Given the description of an element on the screen output the (x, y) to click on. 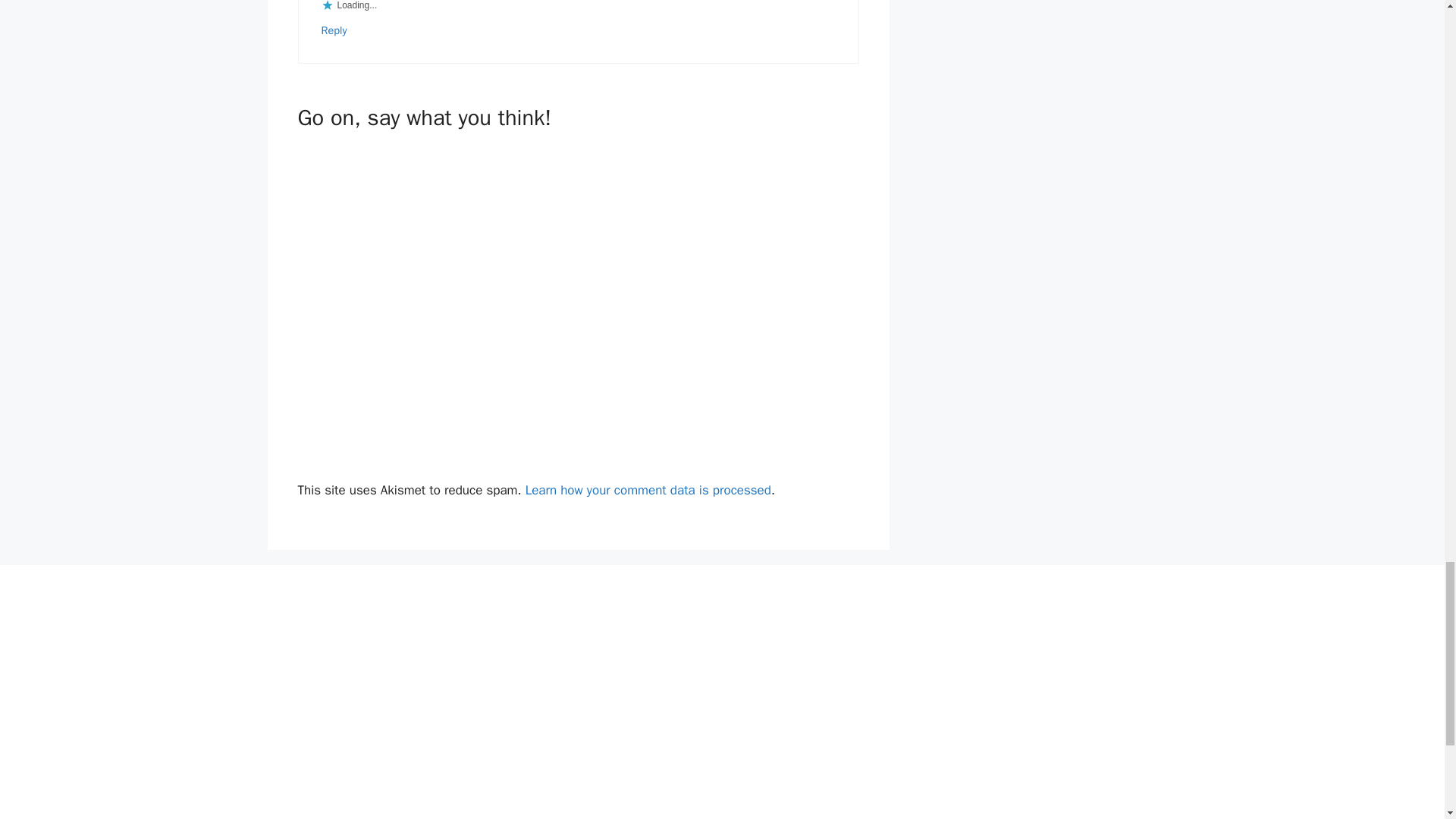
Reply (334, 29)
He Will Obey (1015, 707)
Corporate Conditioning (428, 707)
Learn how your comment data is processed (648, 489)
The Pet Gentleman: Breaking the Pet Gentleman (722, 707)
